Given the description of an element on the screen output the (x, y) to click on. 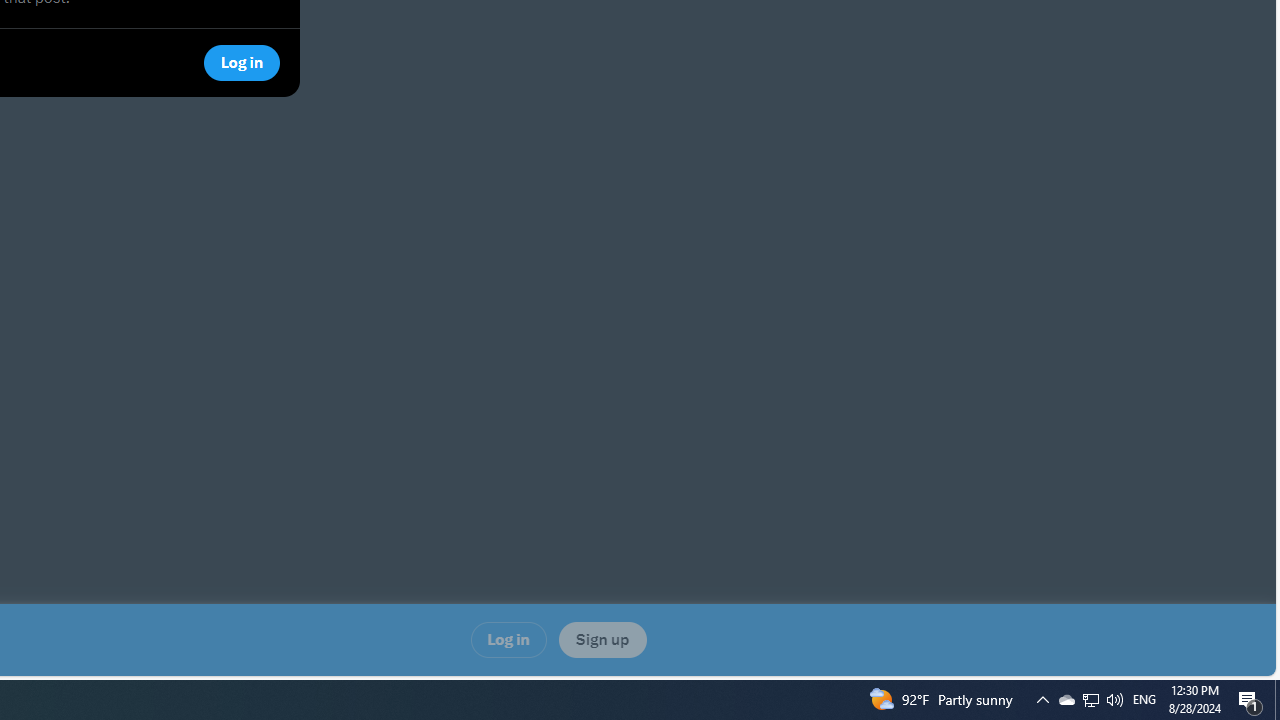
Log in (507, 640)
Sign up (602, 640)
